Given the description of an element on the screen output the (x, y) to click on. 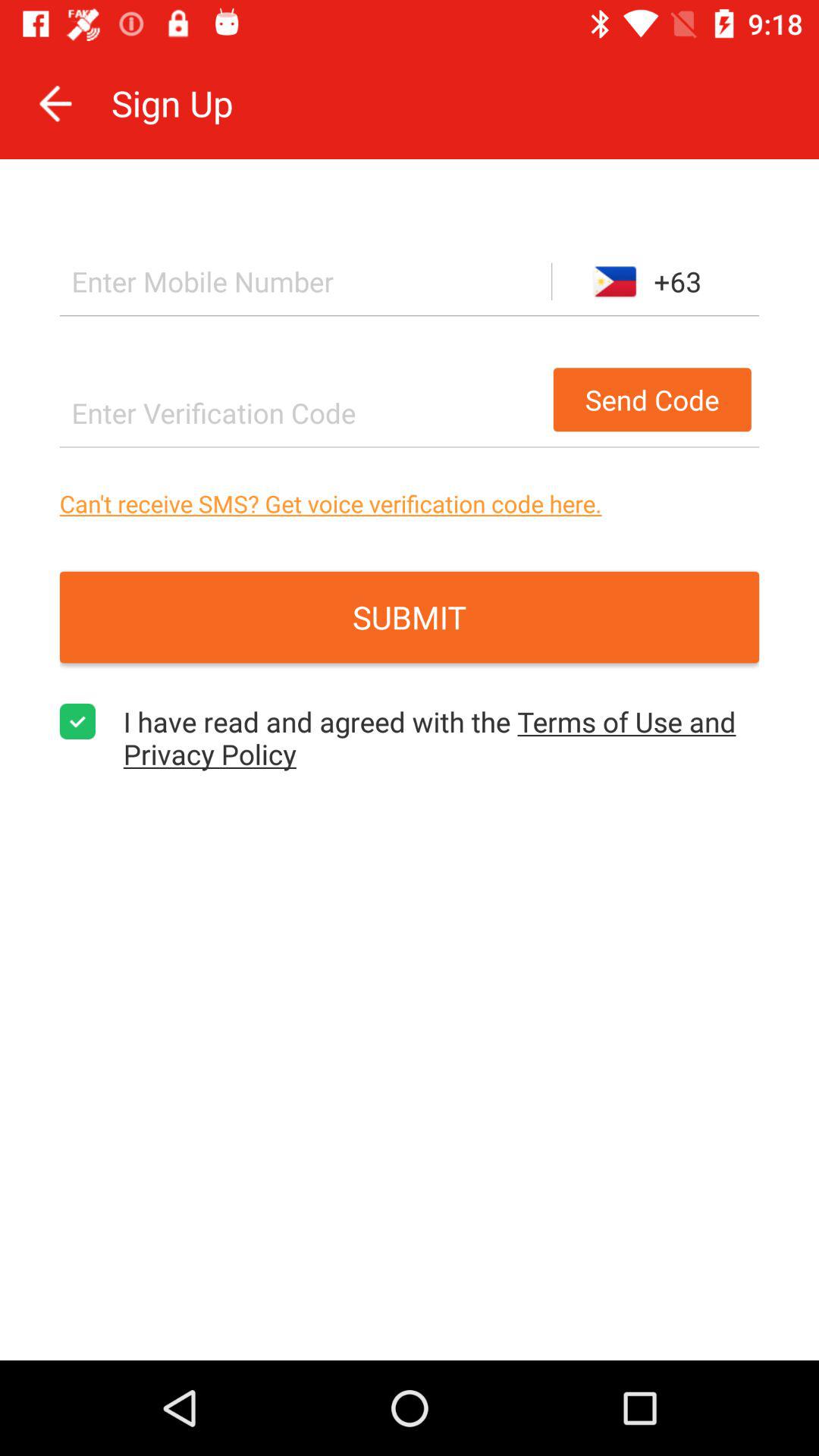
enter verification code (302, 412)
